Given the description of an element on the screen output the (x, y) to click on. 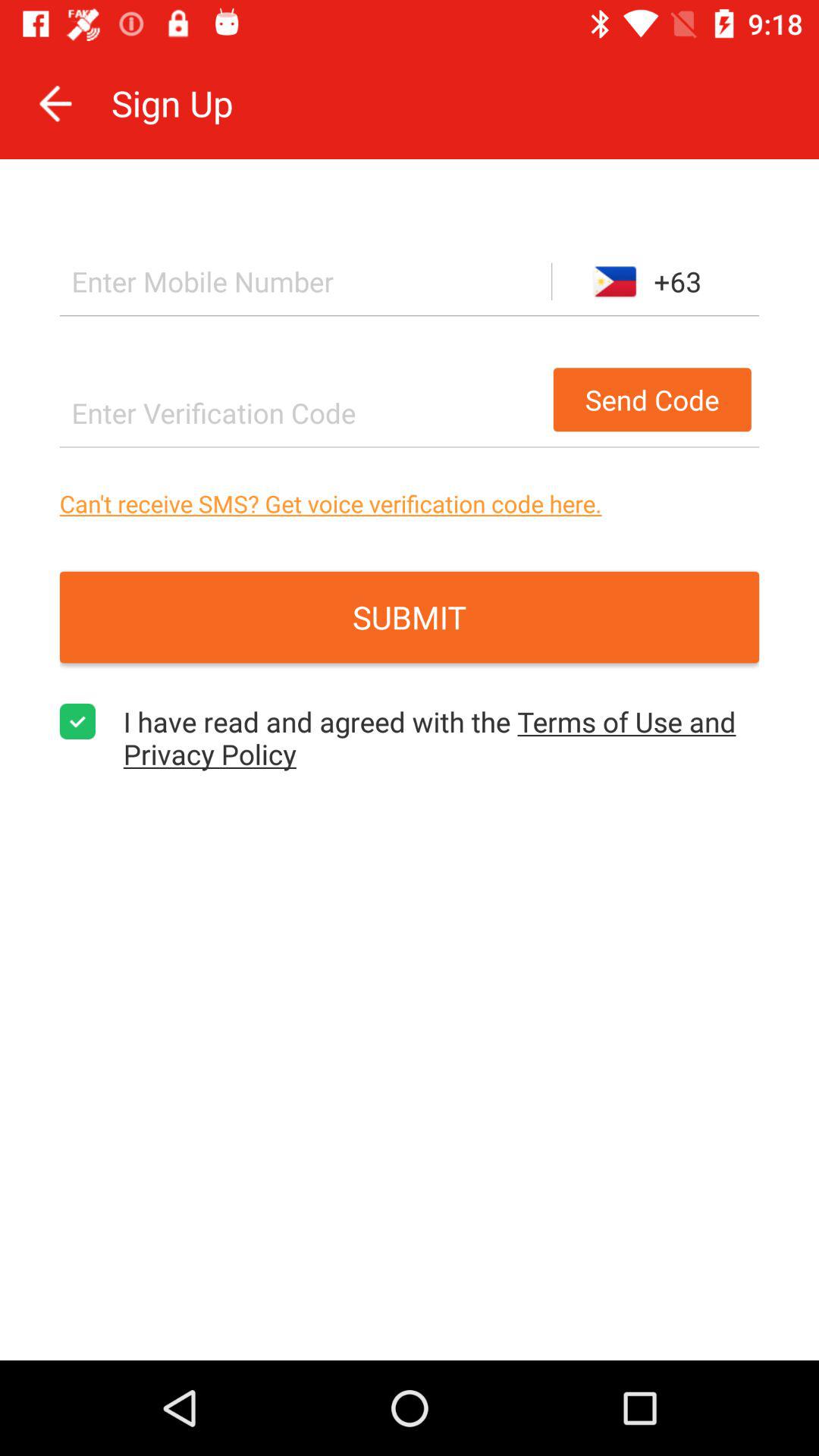
enter verification code (302, 412)
